Given the description of an element on the screen output the (x, y) to click on. 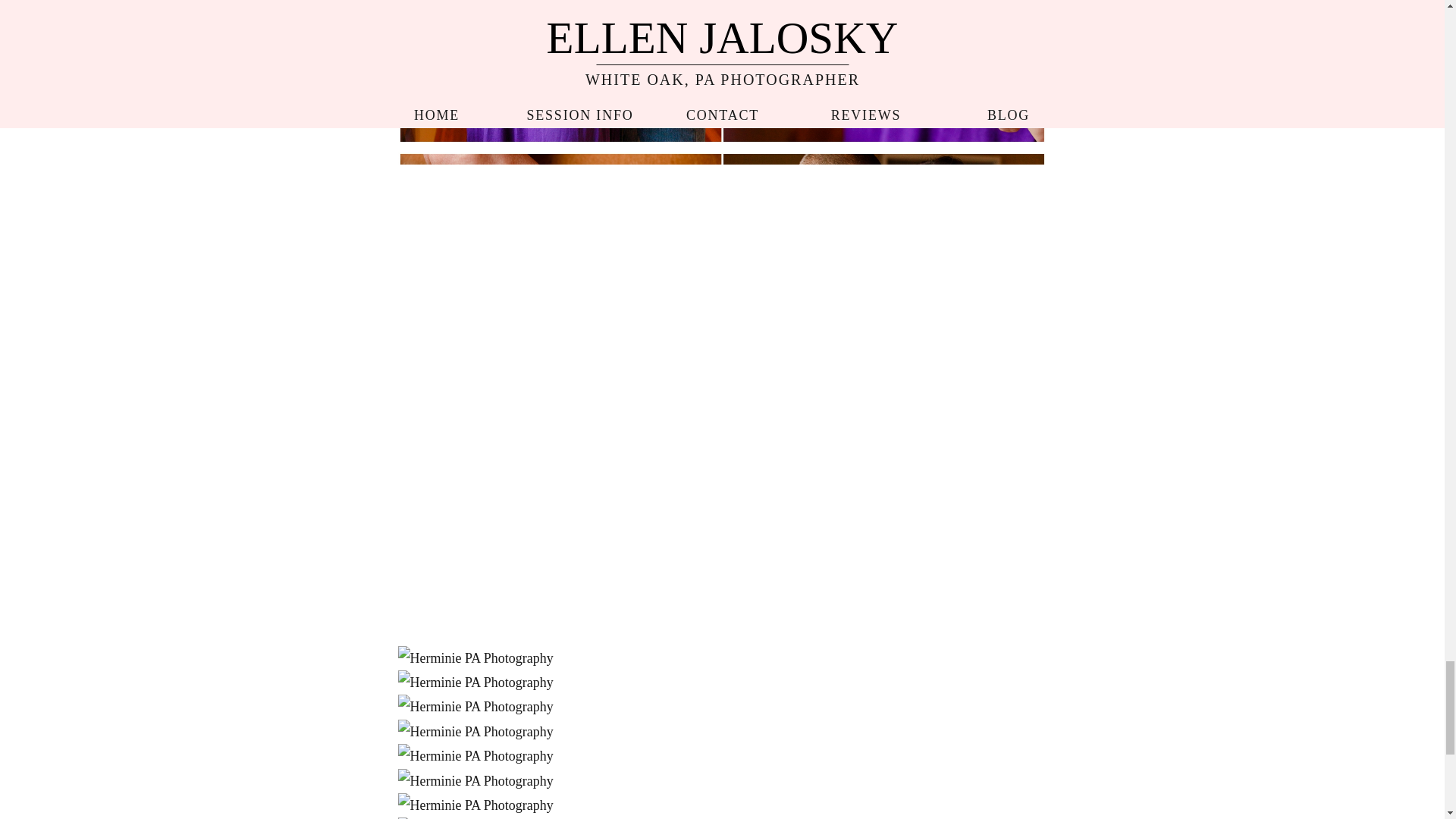
At Home Newborn Photos (475, 731)
At Home Newborn Photos (475, 682)
At Home Newborn Photos (475, 658)
At Home Newborn Photos (721, 72)
At Home Newborn Photos (475, 706)
